Given the description of an element on the screen output the (x, y) to click on. 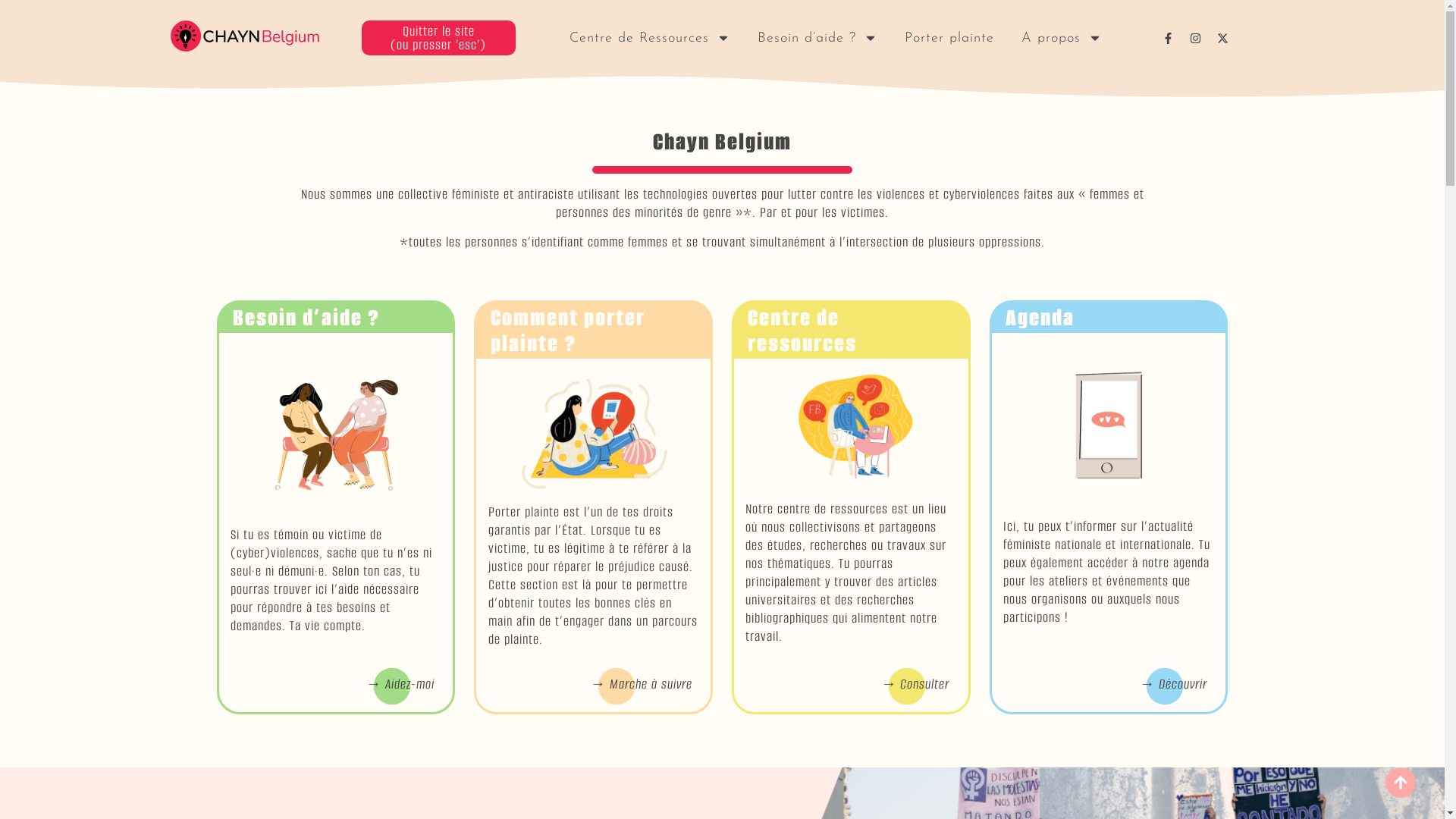
Agenda Element type: text (1039, 316)
Porter plainte Element type: text (949, 38)
Centre de Ressources Element type: text (649, 38)
Comment porter plainte ? Element type: text (567, 329)
A propos Element type: text (1061, 38)
Quitter le site
(ou presser 'esc') Element type: text (438, 37)
Centre de ressources Element type: text (801, 329)
